Given the description of an element on the screen output the (x, y) to click on. 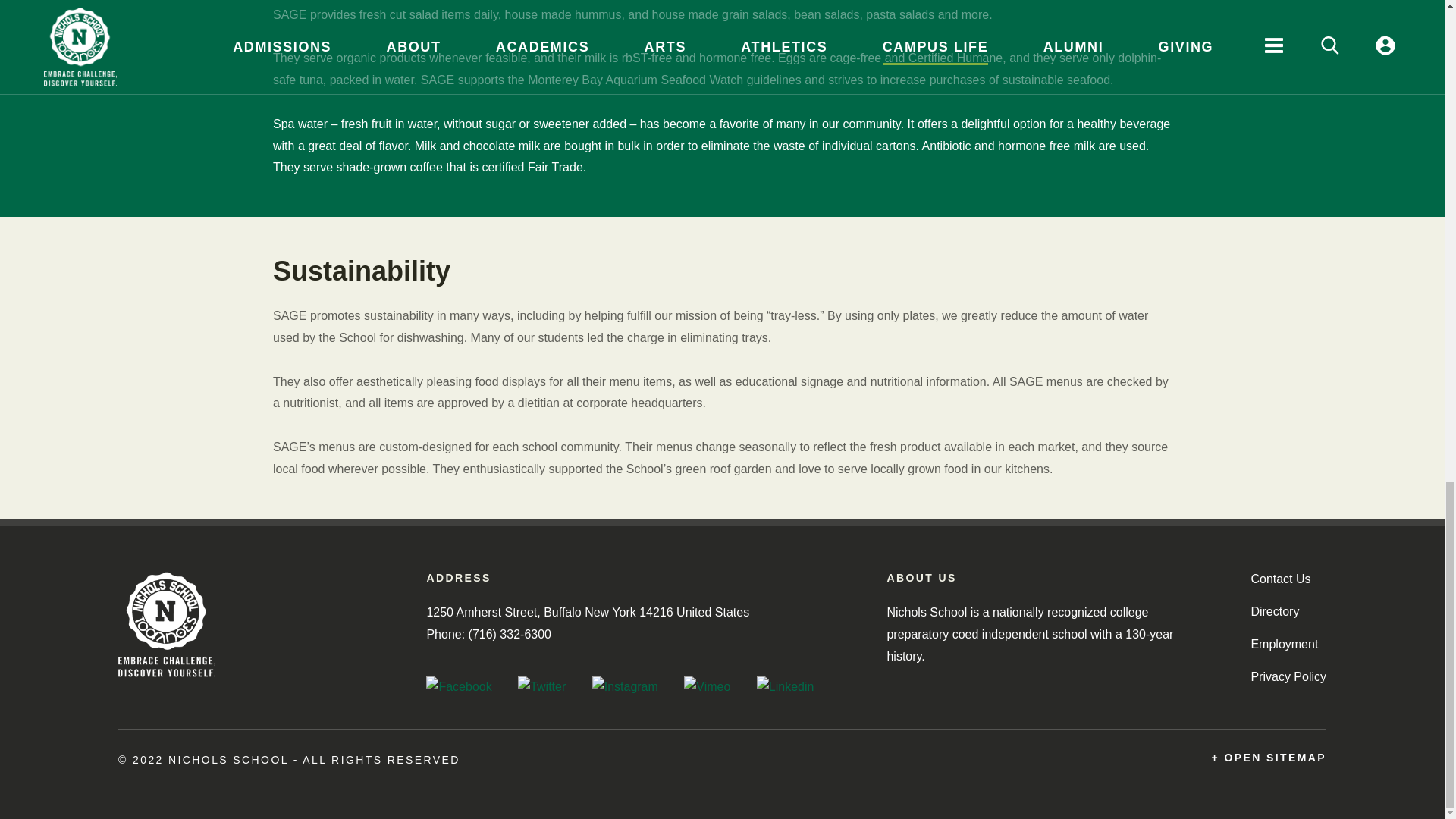
open or close this sitemap (1268, 757)
